Given the description of an element on the screen output the (x, y) to click on. 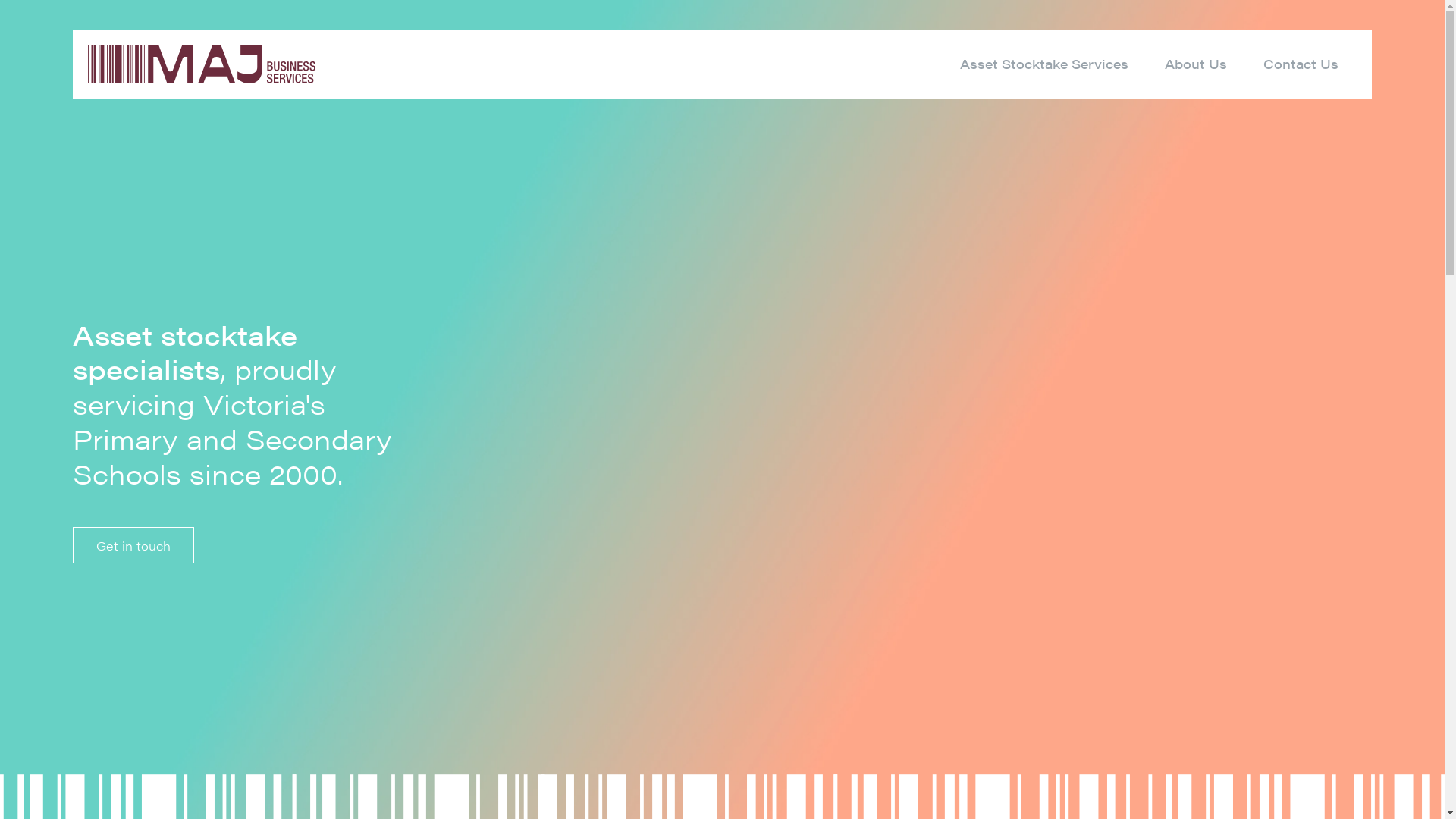
Contact Us Element type: text (1300, 64)
Asset Stocktake Services Element type: text (1043, 64)
About Us Element type: text (1195, 64)
Get in touch Element type: text (133, 545)
